Given the description of an element on the screen output the (x, y) to click on. 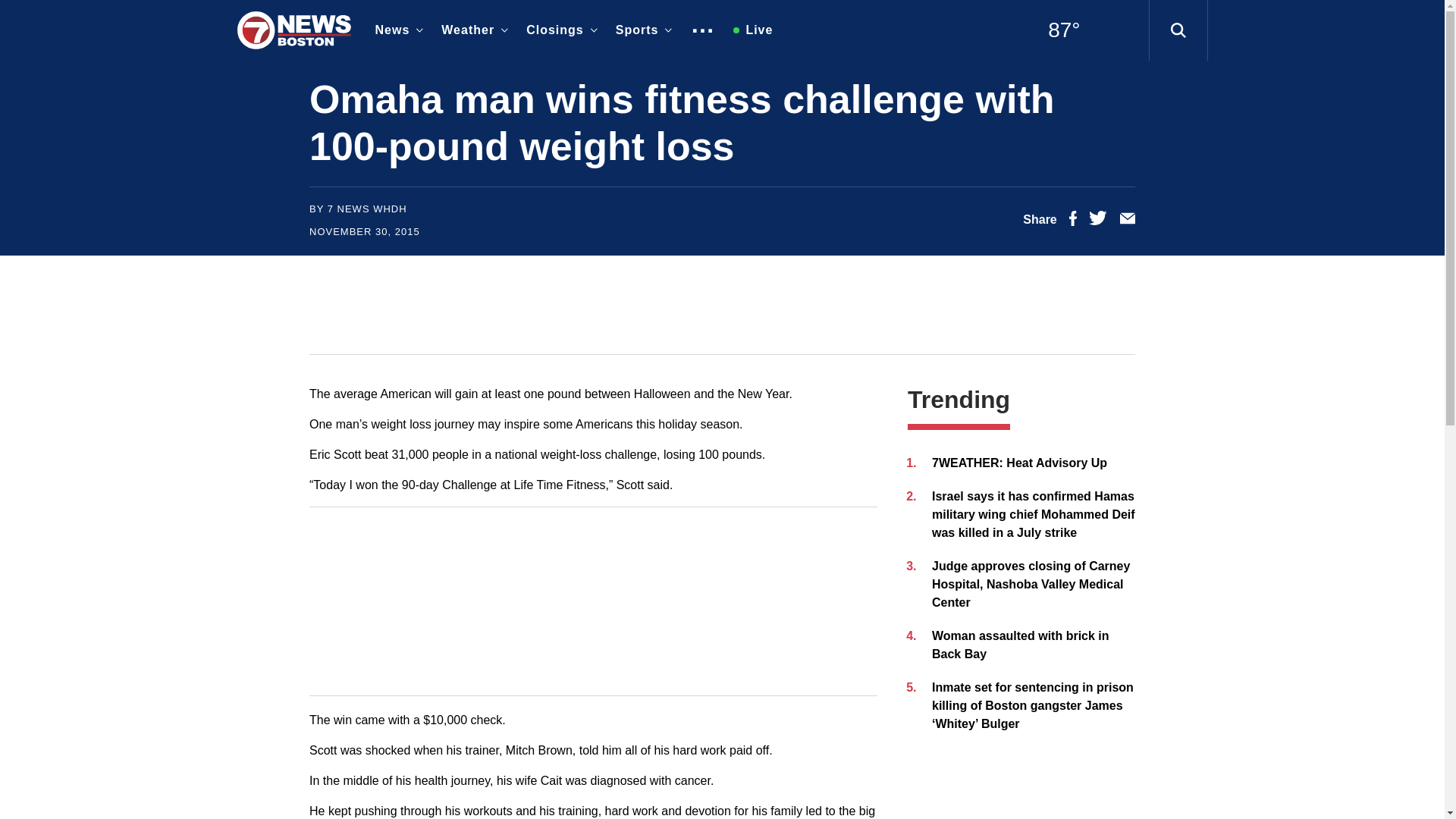
Email (1127, 221)
Closings (558, 30)
Twitter (1098, 221)
Sports (641, 30)
Posts by 7 News WHDH (367, 208)
Weather (471, 30)
News (395, 30)
November 30, 2015 (364, 231)
